Given the description of an element on the screen output the (x, y) to click on. 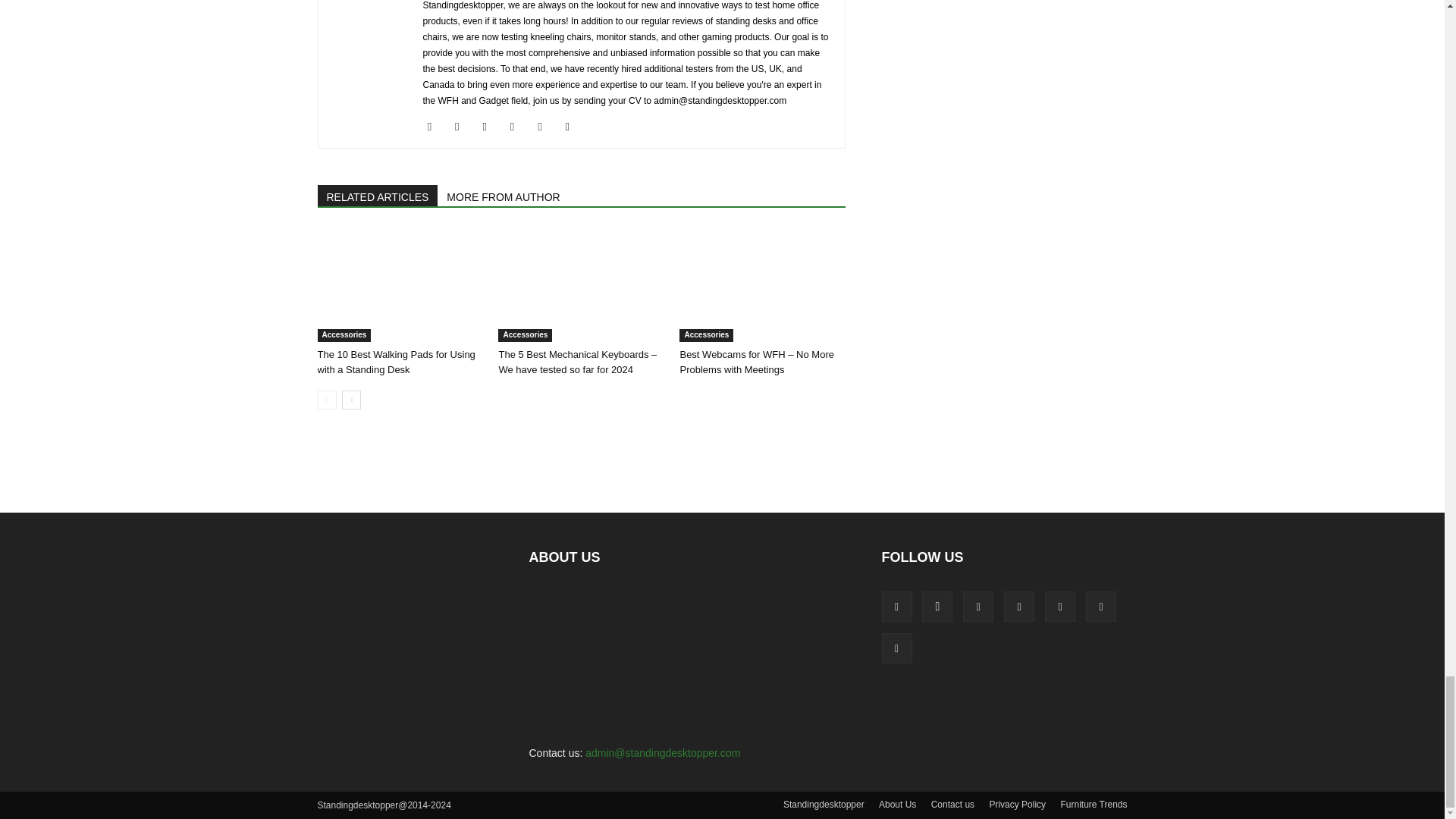
Facebook (435, 126)
Reddit (544, 126)
Instagram (462, 126)
Mail (489, 126)
Pinterest (518, 126)
